Given the description of an element on the screen output the (x, y) to click on. 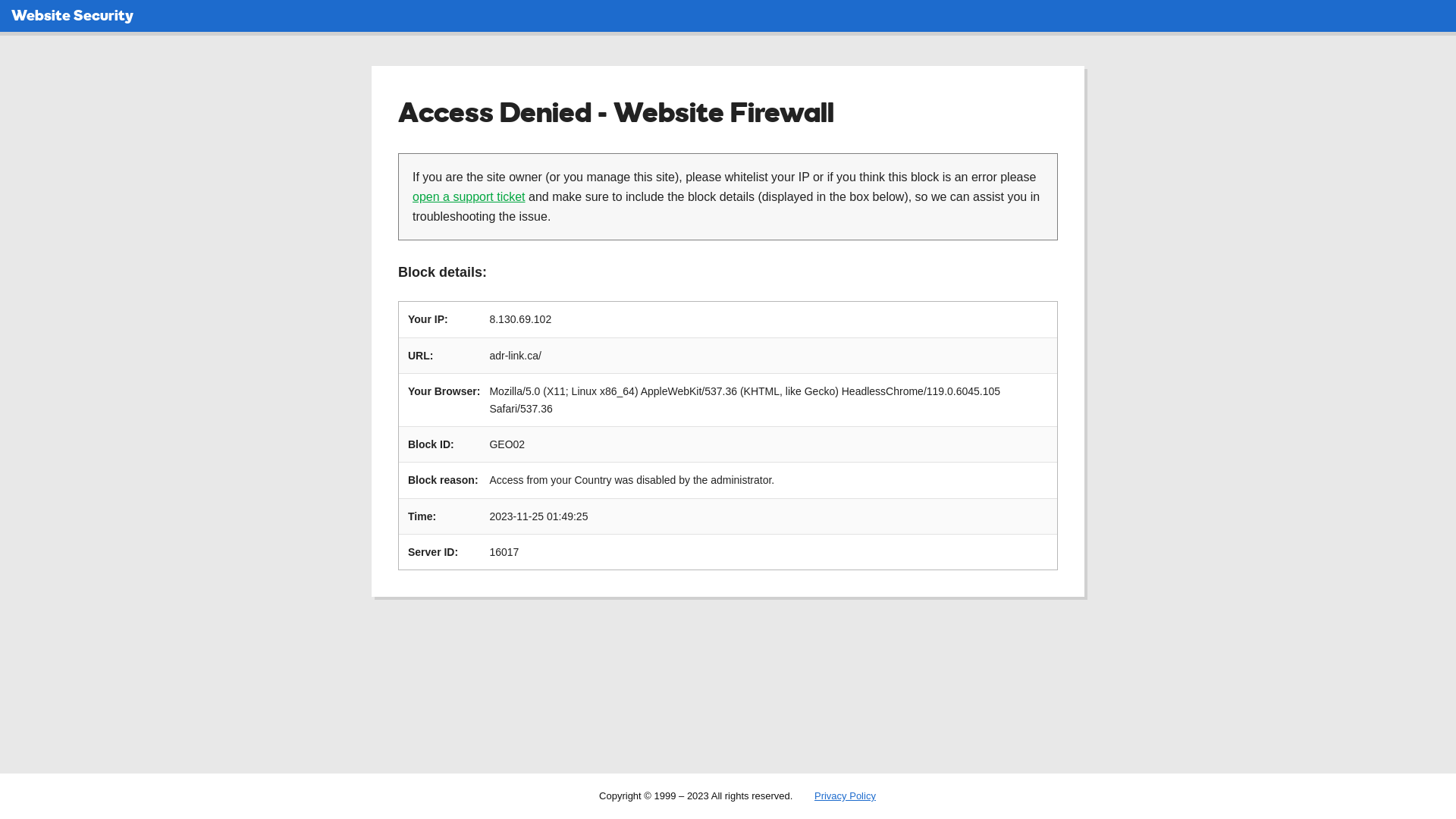
Privacy Policy Element type: text (844, 795)
open a support ticket Element type: text (468, 196)
